Given the description of an element on the screen output the (x, y) to click on. 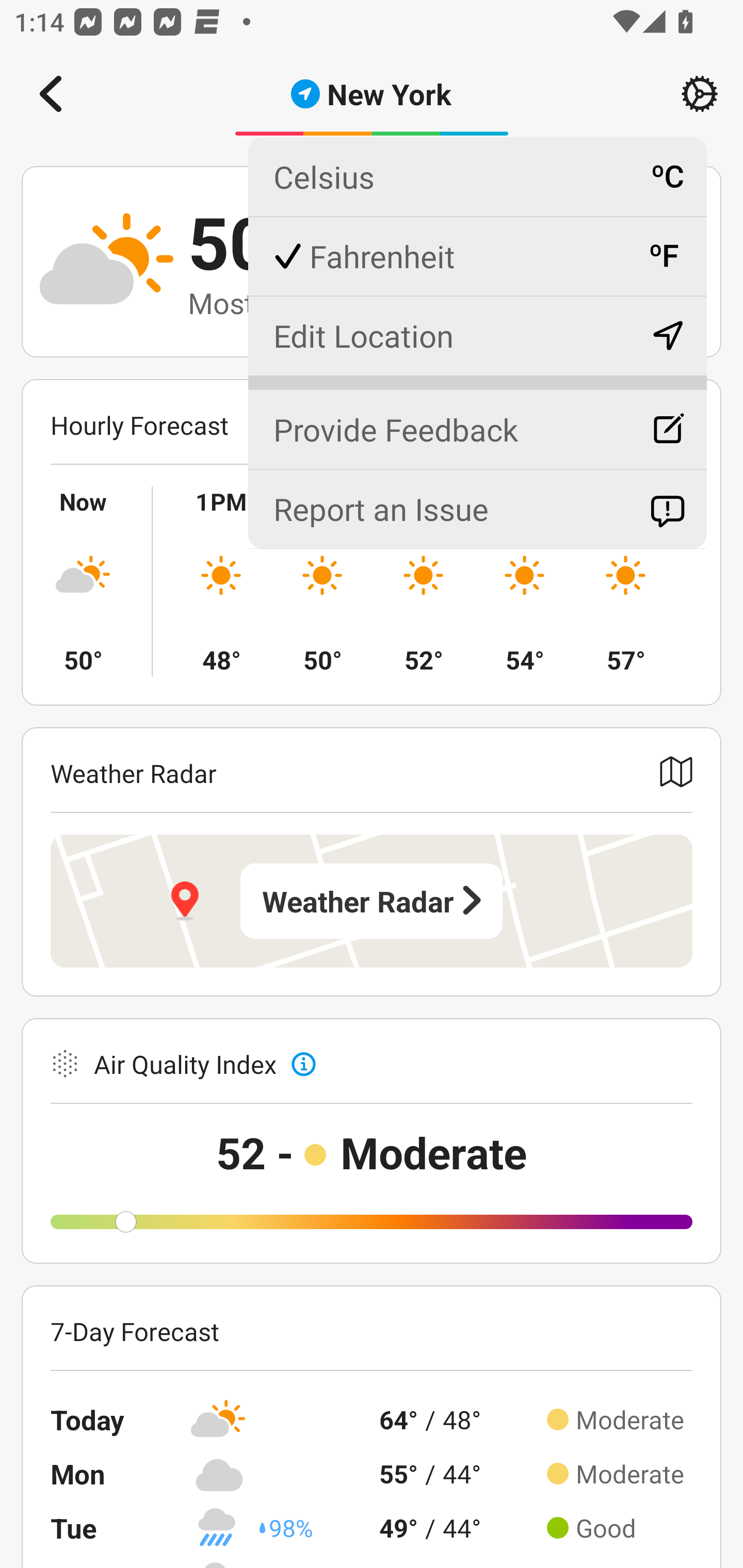
Celsius (477, 176)
Fahrenheit (477, 256)
Edit Location (477, 335)
Provide Feedback (477, 421)
Report an Issue (477, 508)
